Given the description of an element on the screen output the (x, y) to click on. 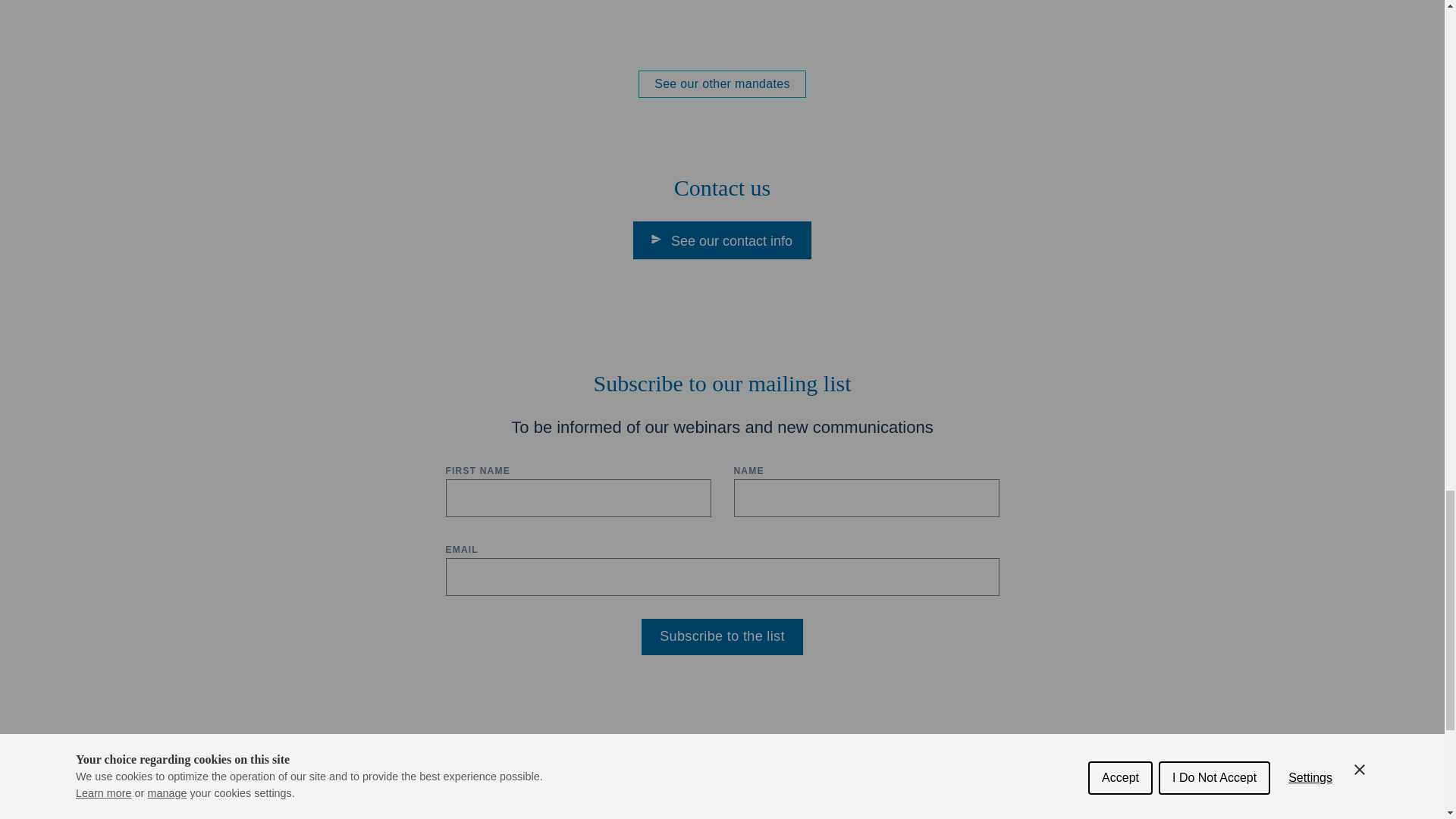
See our other mandates (722, 83)
Subscribe to the list (722, 637)
See our contact info (721, 240)
